Given the description of an element on the screen output the (x, y) to click on. 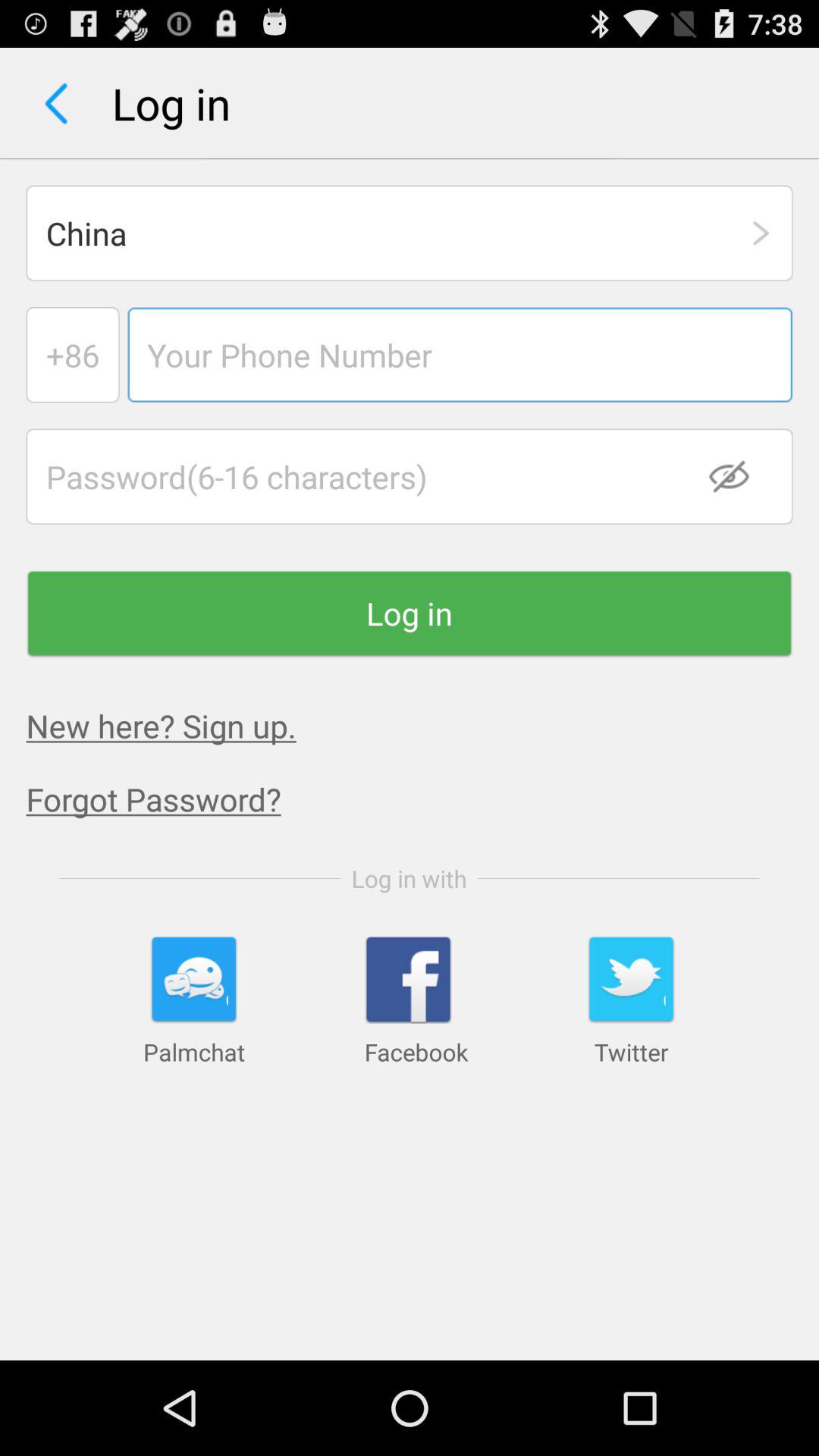
scroll to china button (409, 232)
